Given the description of an element on the screen output the (x, y) to click on. 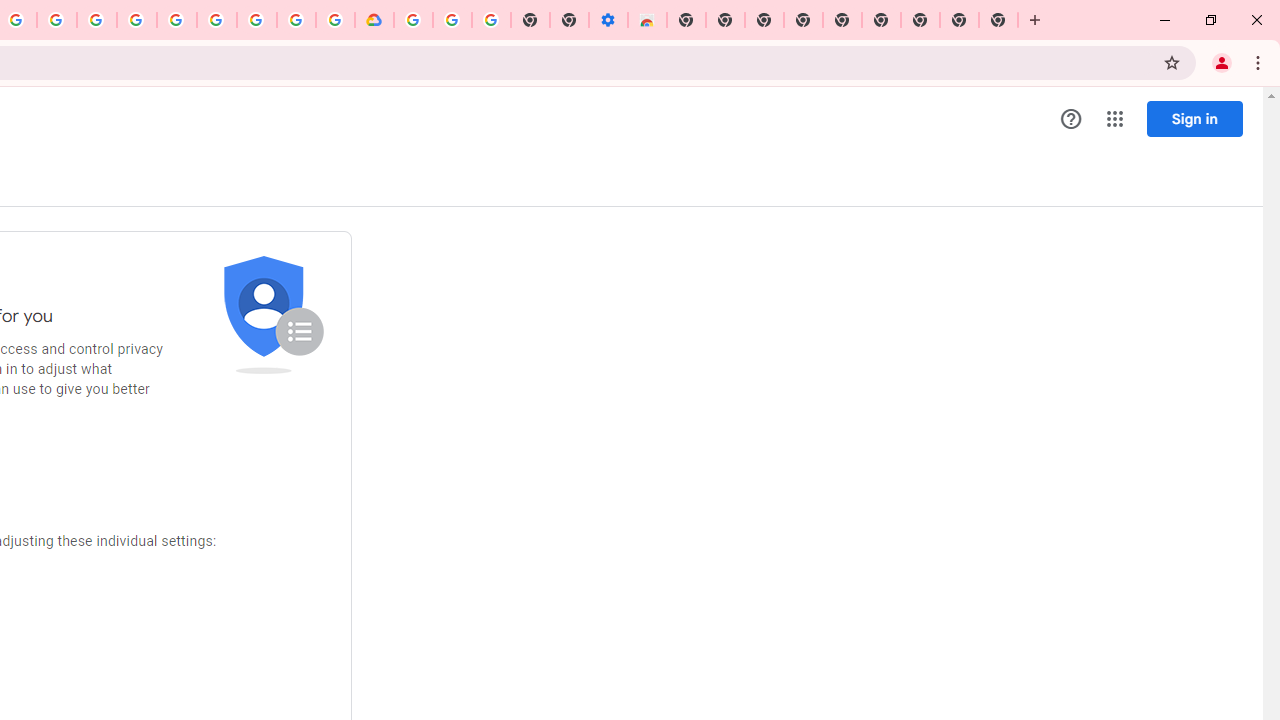
Sign in - Google Accounts (136, 20)
Create your Google Account (296, 20)
Help (1071, 119)
New Tab (998, 20)
Google Account Help (452, 20)
